Given the description of an element on the screen output the (x, y) to click on. 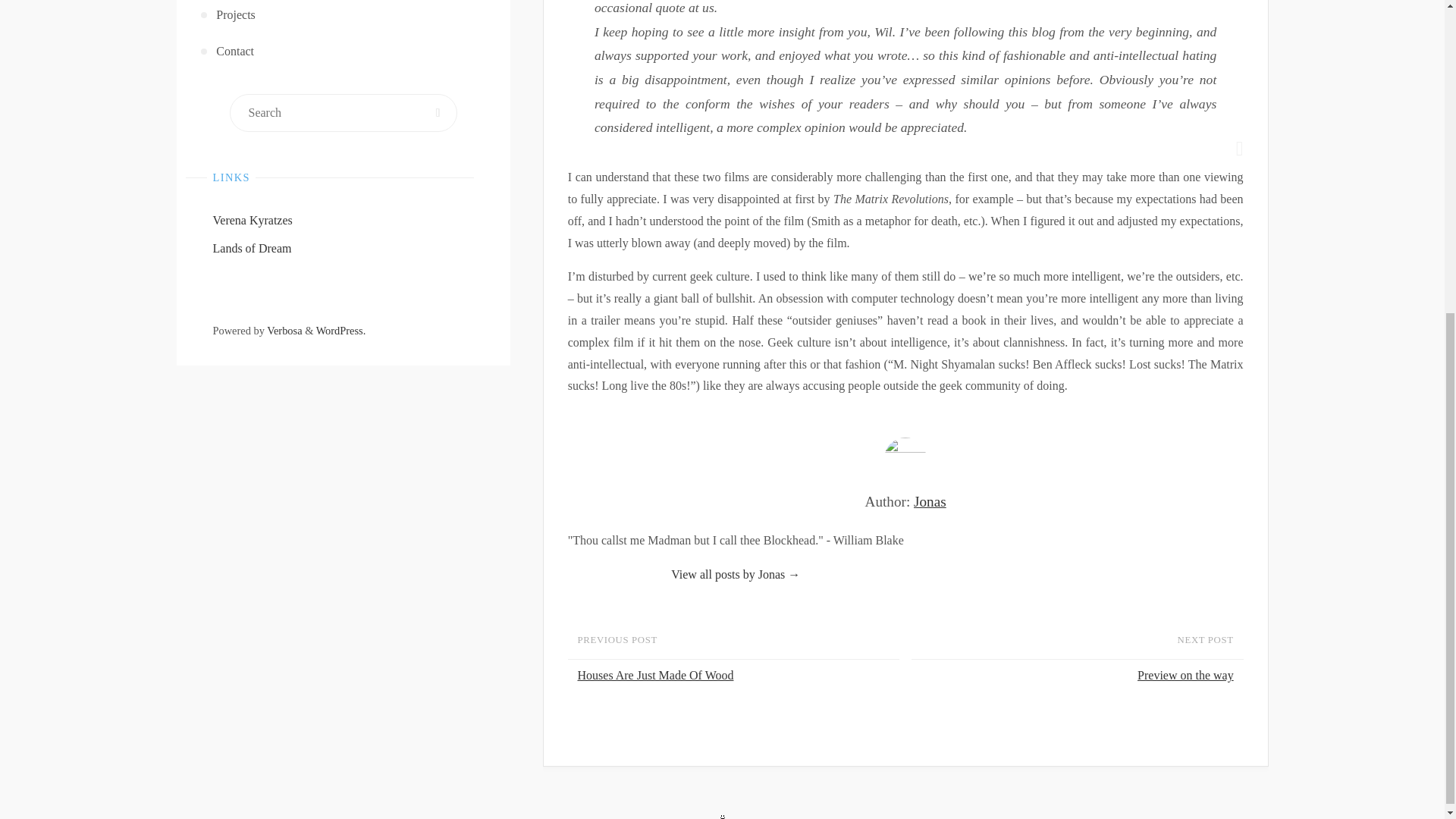
Semantic Personal Publishing Platform (340, 330)
WordPress. (340, 330)
Verbosa (283, 330)
Preview on the way (1074, 675)
Verbosa Theme by Cryout Creations (283, 330)
Verena Kyratzes (252, 219)
Lands of Dream (251, 247)
Projects (344, 16)
Houses Are Just Made Of Wood (736, 675)
Contact (344, 51)
